Given the description of an element on the screen output the (x, y) to click on. 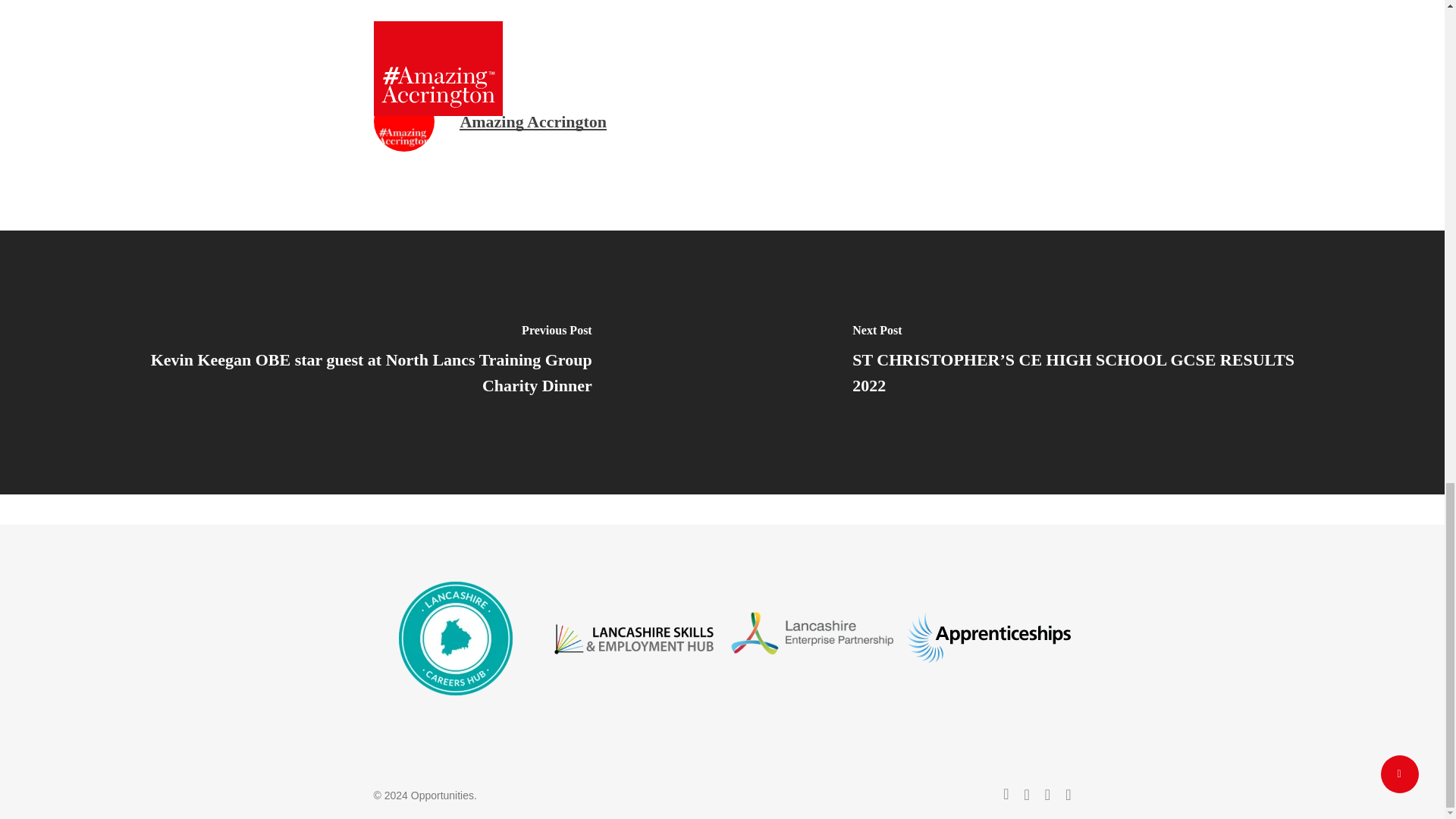
Amazing Accrington (533, 121)
